Given the description of an element on the screen output the (x, y) to click on. 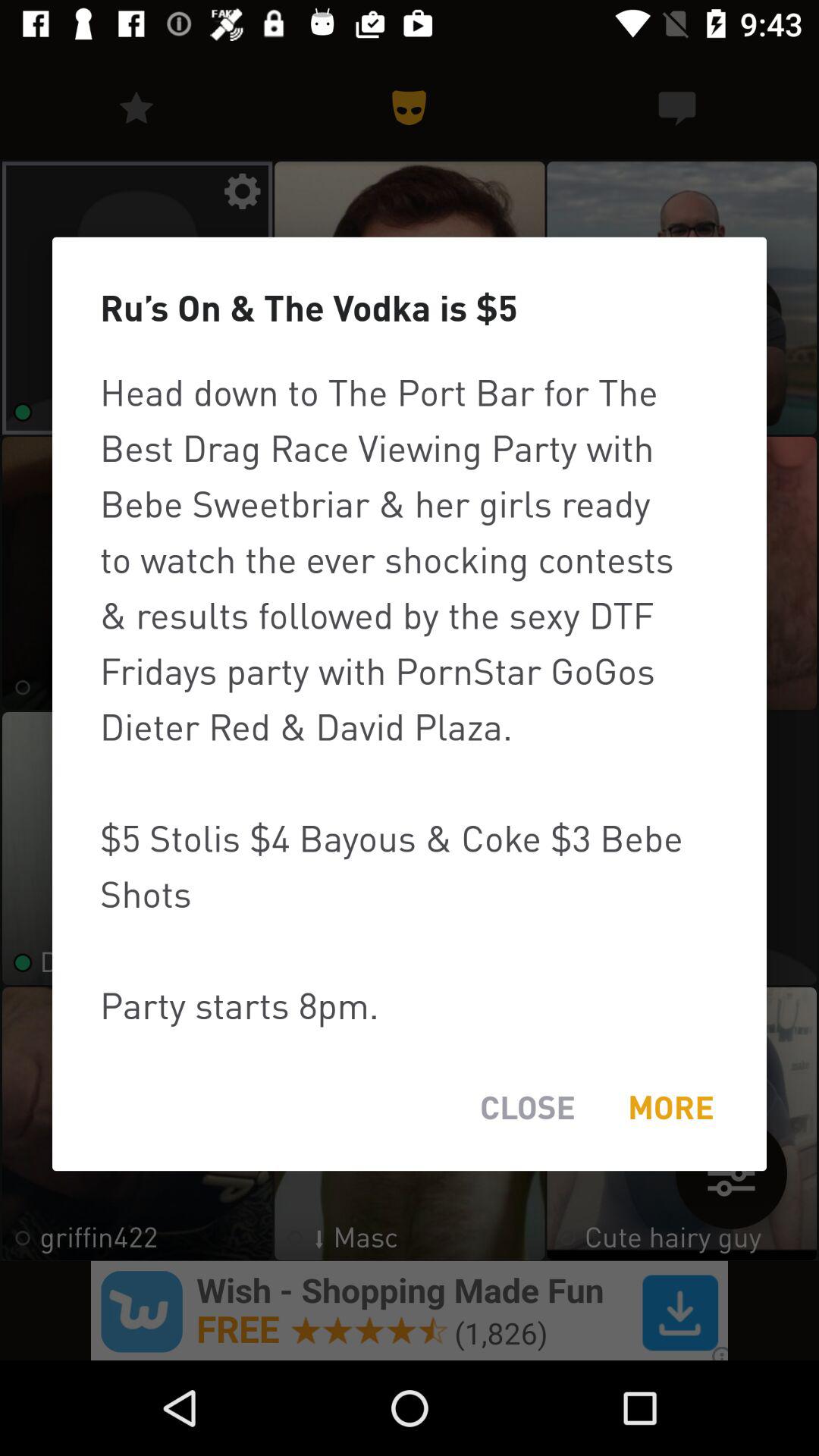
choose the icon above close item (409, 698)
